Given the description of an element on the screen output the (x, y) to click on. 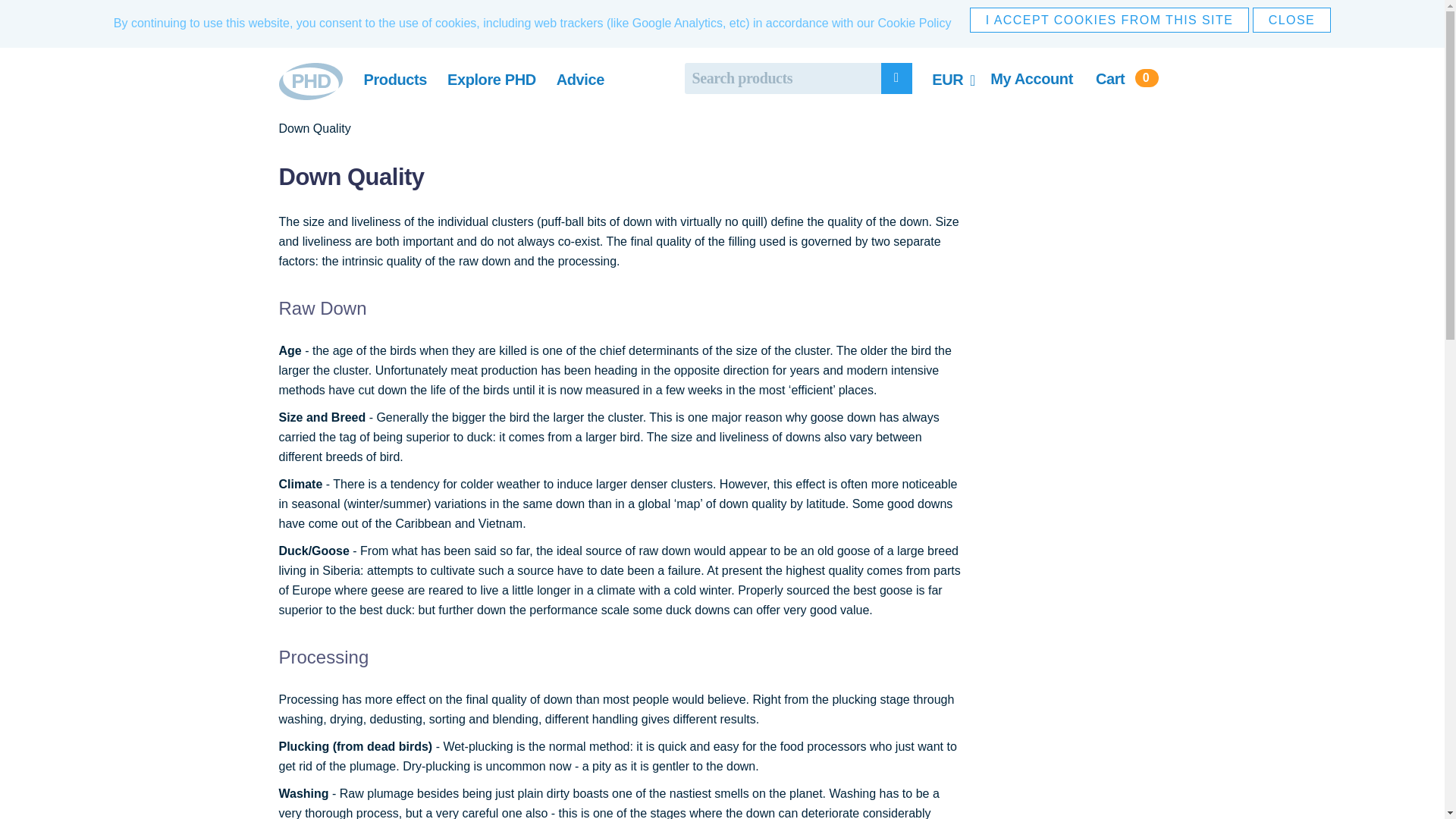
My Account (1027, 87)
Cart 0 items (1123, 79)
